Given the description of an element on the screen output the (x, y) to click on. 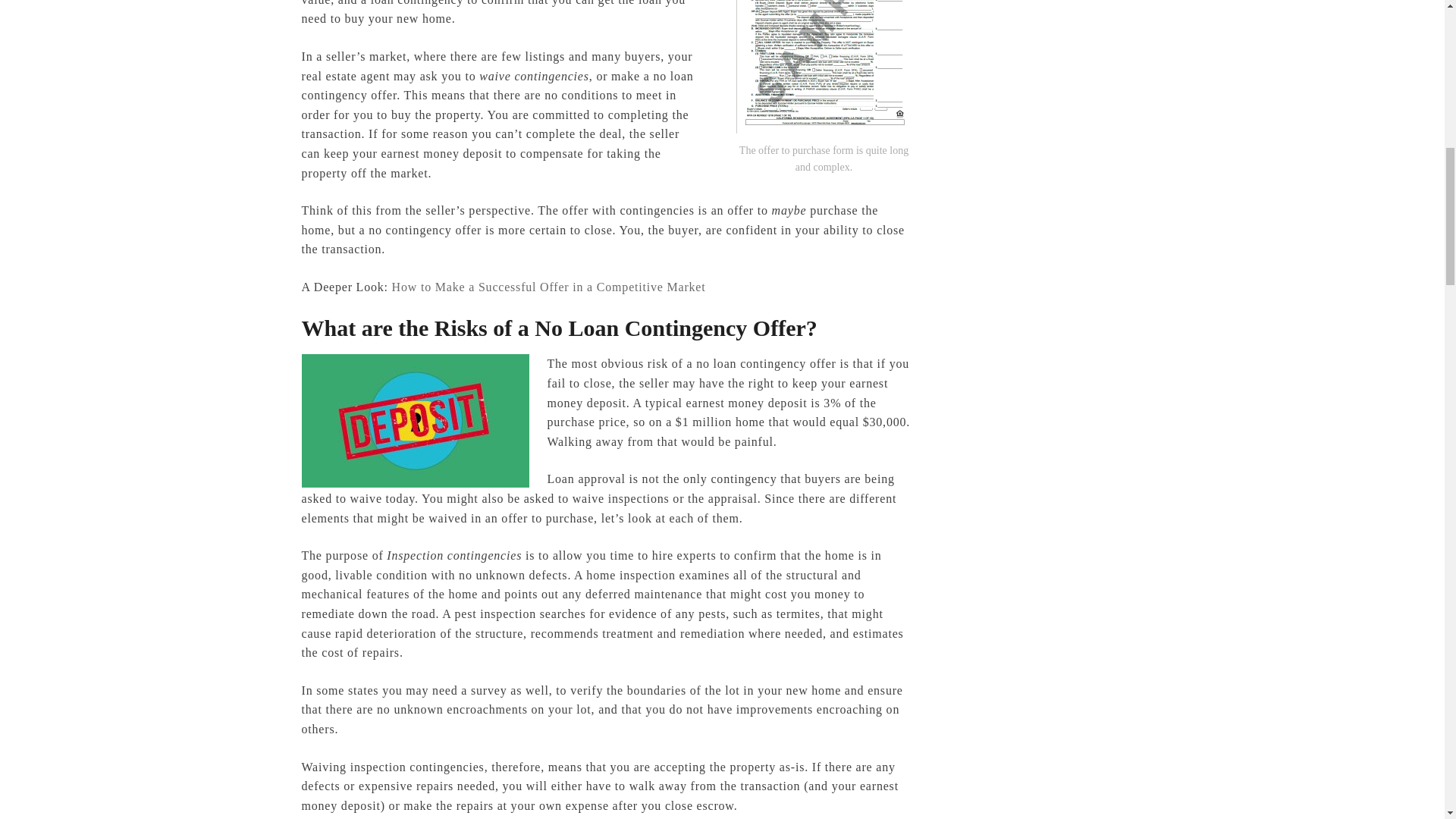
How to Make a Successful Offer in a Competitive Market (548, 286)
No loan contingency (823, 66)
No loan contingency (415, 420)
